Given the description of an element on the screen output the (x, y) to click on. 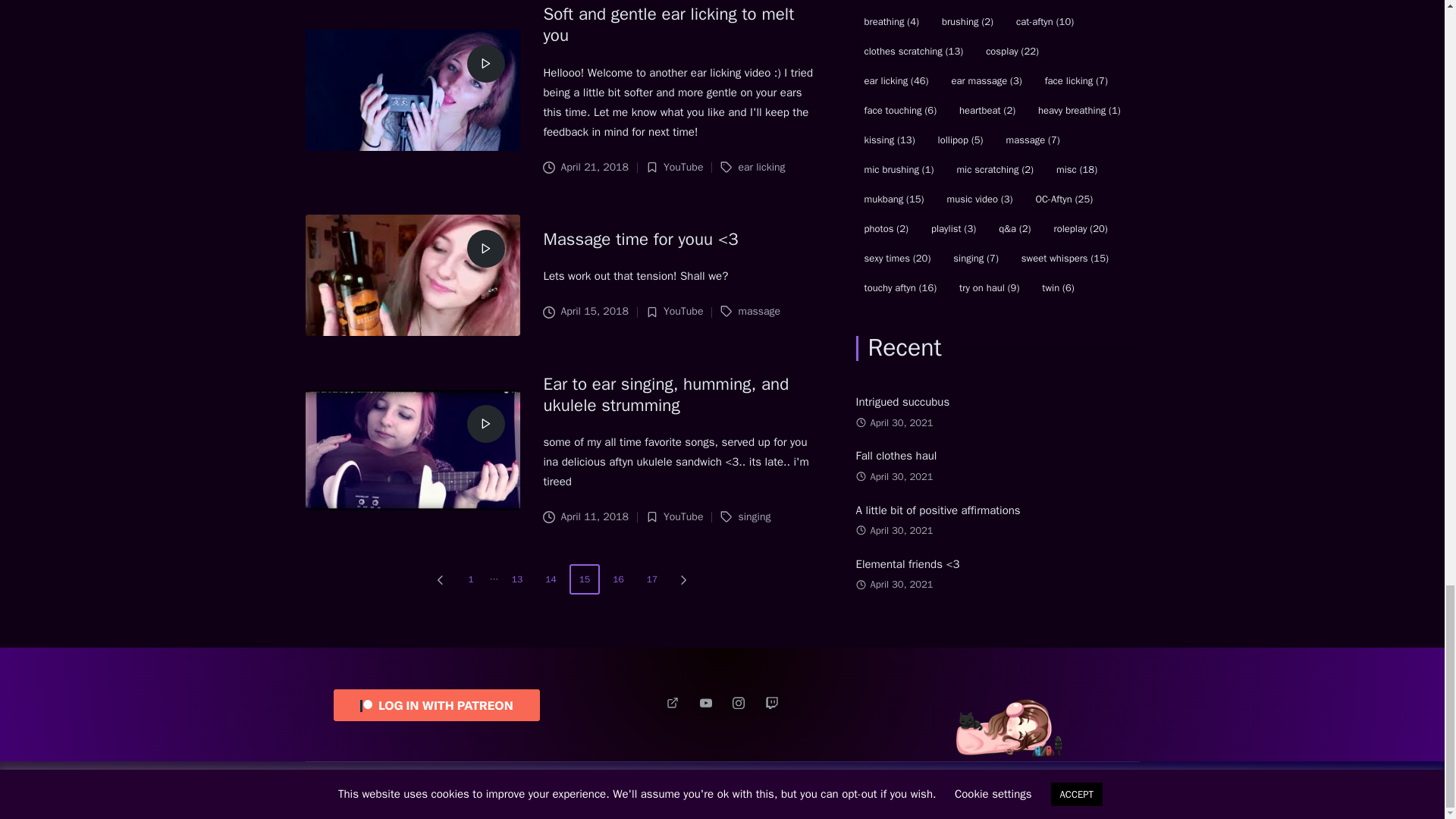
Soft and gentle ear licking to melt you (668, 24)
Massage time for youu  (640, 239)
Ear to ear singing, humming, and ukulele strumming (666, 394)
